Given the description of an element on the screen output the (x, y) to click on. 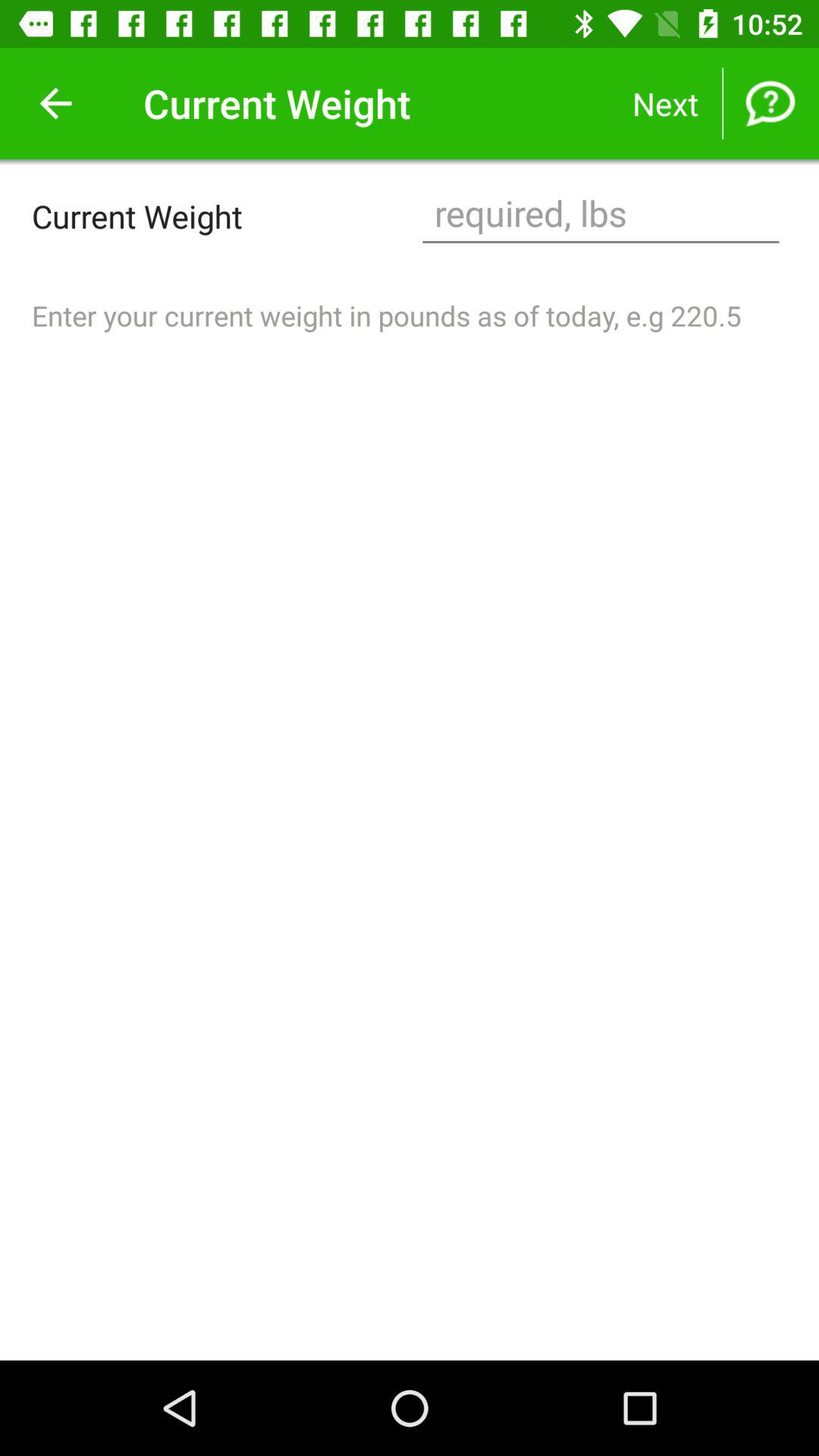
turn on the item to the left of the current weight item (55, 103)
